Given the description of an element on the screen output the (x, y) to click on. 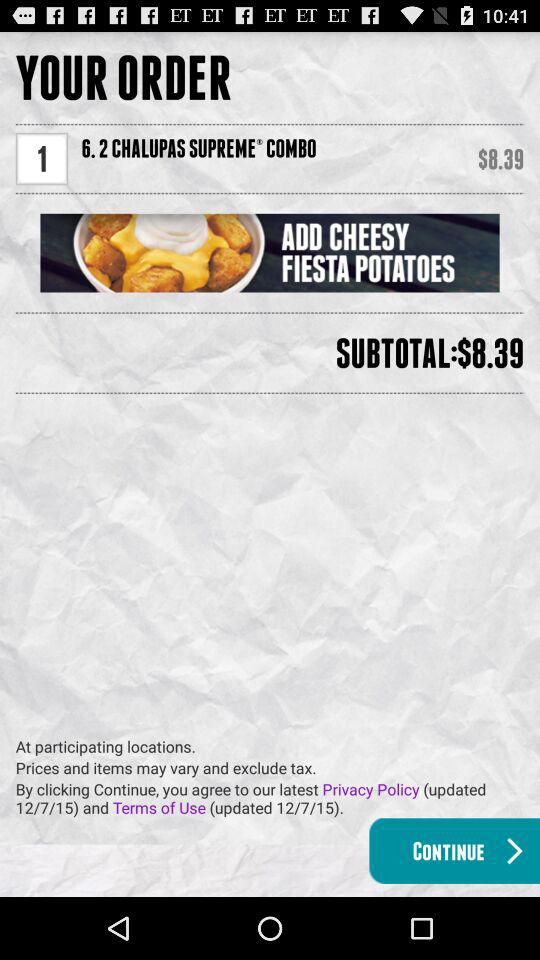
scroll until 1 (41, 158)
